Given the description of an element on the screen output the (x, y) to click on. 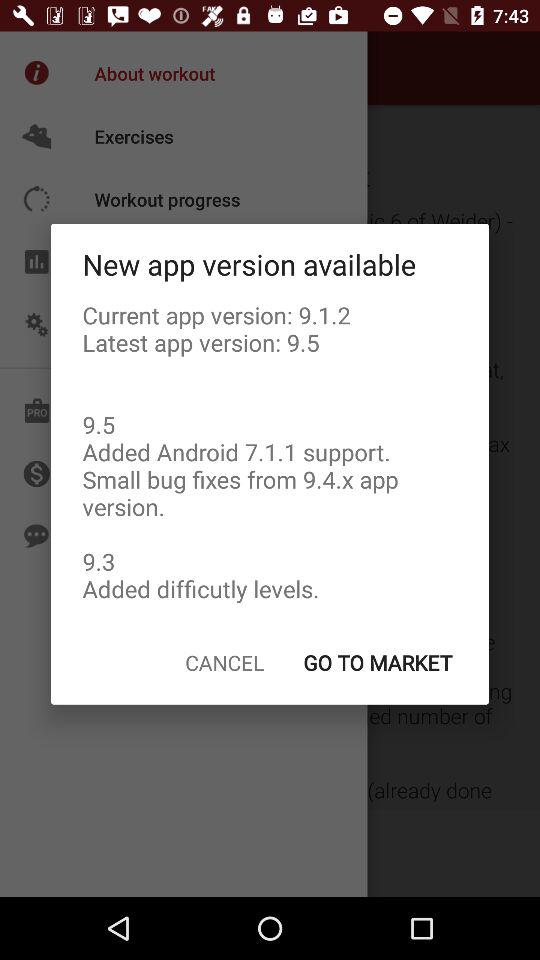
turn on item below the current app version item (224, 662)
